Given the description of an element on the screen output the (x, y) to click on. 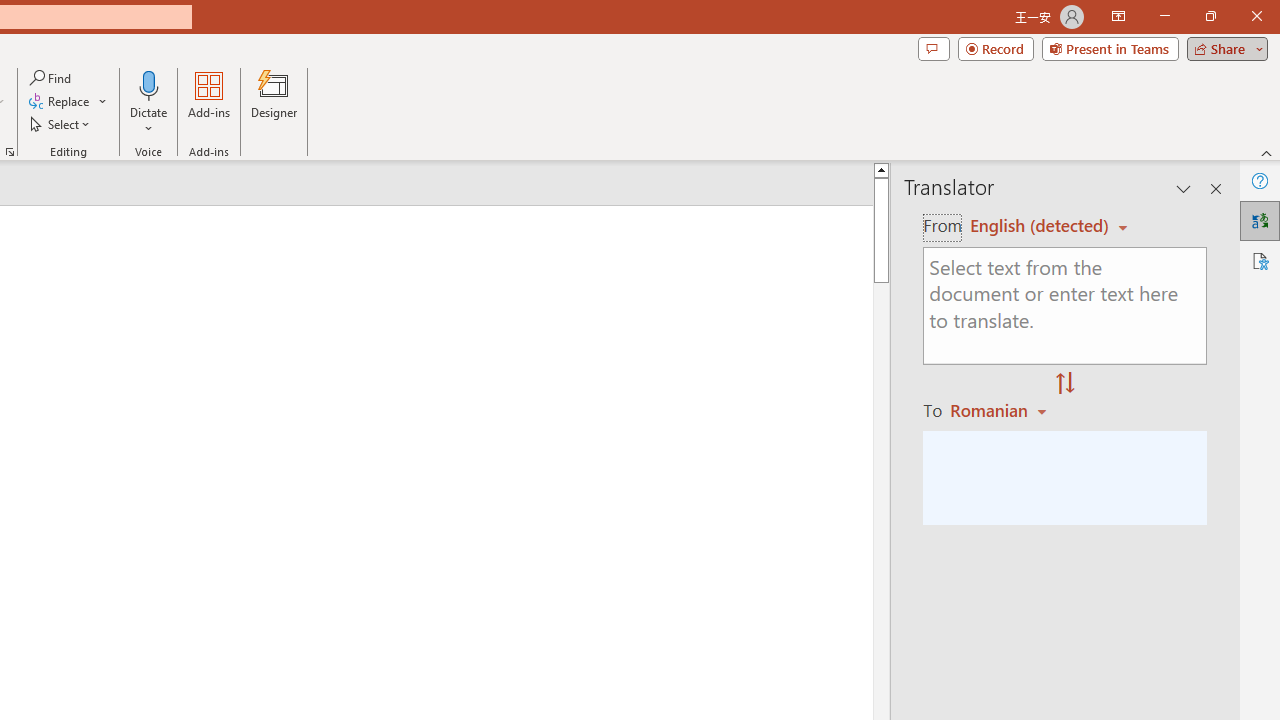
Czech (detected) (1039, 225)
